Given the description of an element on the screen output the (x, y) to click on. 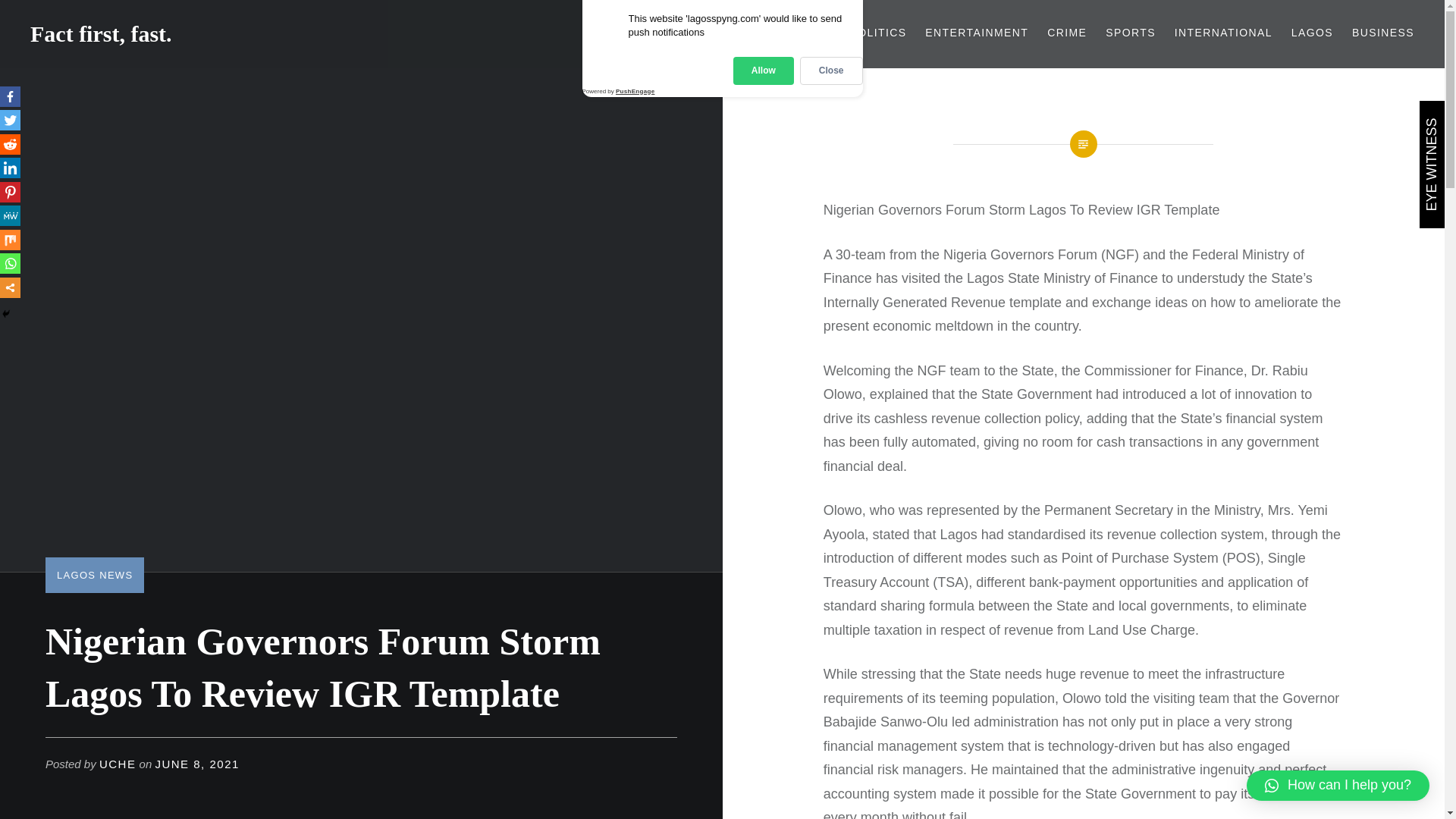
JUNE 8, 2021 (196, 763)
Facebook (10, 96)
LAGOS (1312, 32)
CRIME (1066, 32)
UCHE (117, 763)
SPORTS (1130, 32)
LAGOS NEWS (94, 574)
More (10, 287)
Reddit (10, 144)
Pinterest (10, 191)
Hide (5, 313)
BUSINESS (1382, 32)
Mix (10, 240)
ENTERTAINMENT (975, 32)
Linkedin (10, 168)
